Given the description of an element on the screen output the (x, y) to click on. 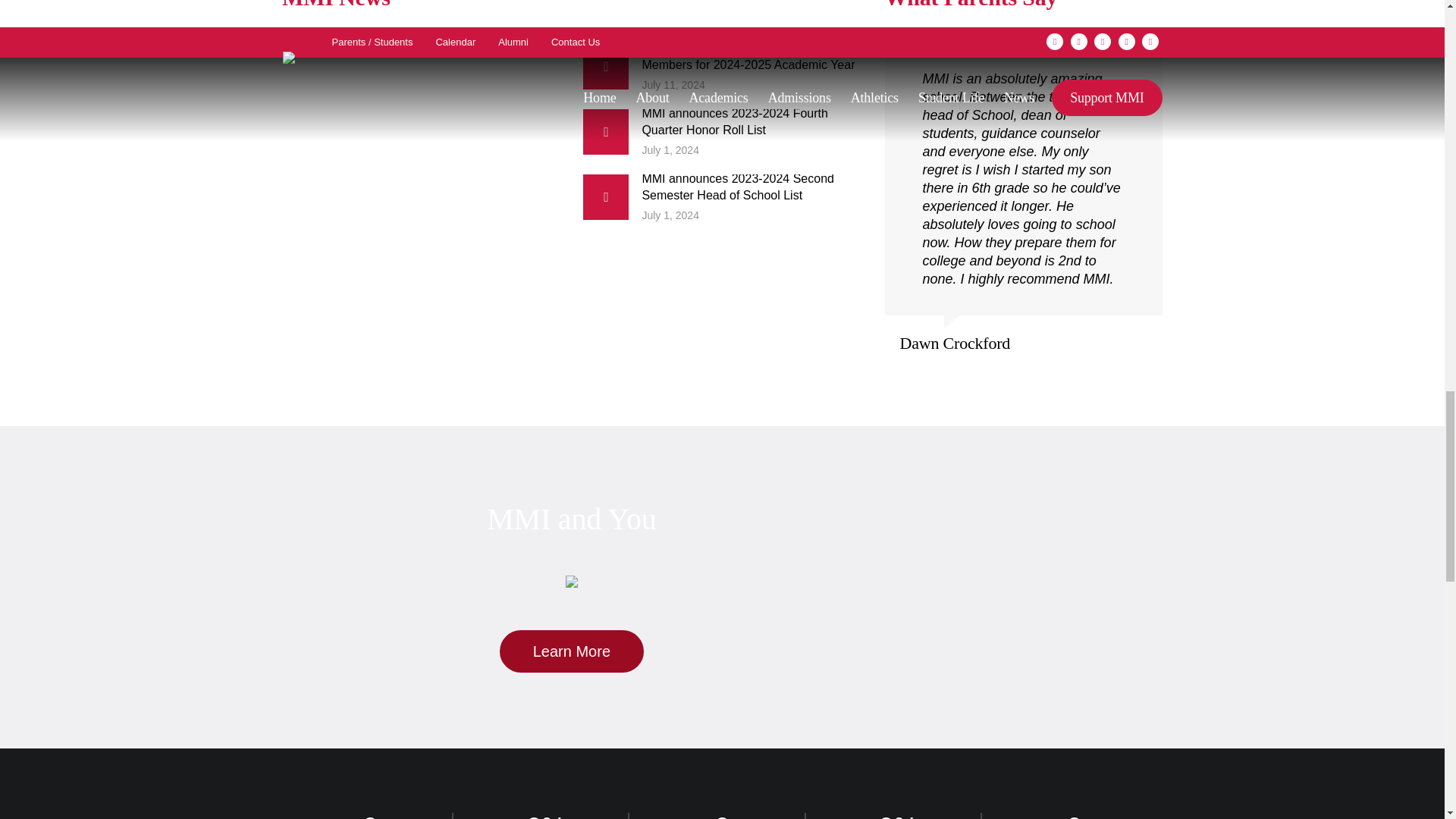
July 11, 2024 (751, 85)
MMI announces 2023-2024 Fourth Quarter Honor Roll List (605, 131)
